Given the description of an element on the screen output the (x, y) to click on. 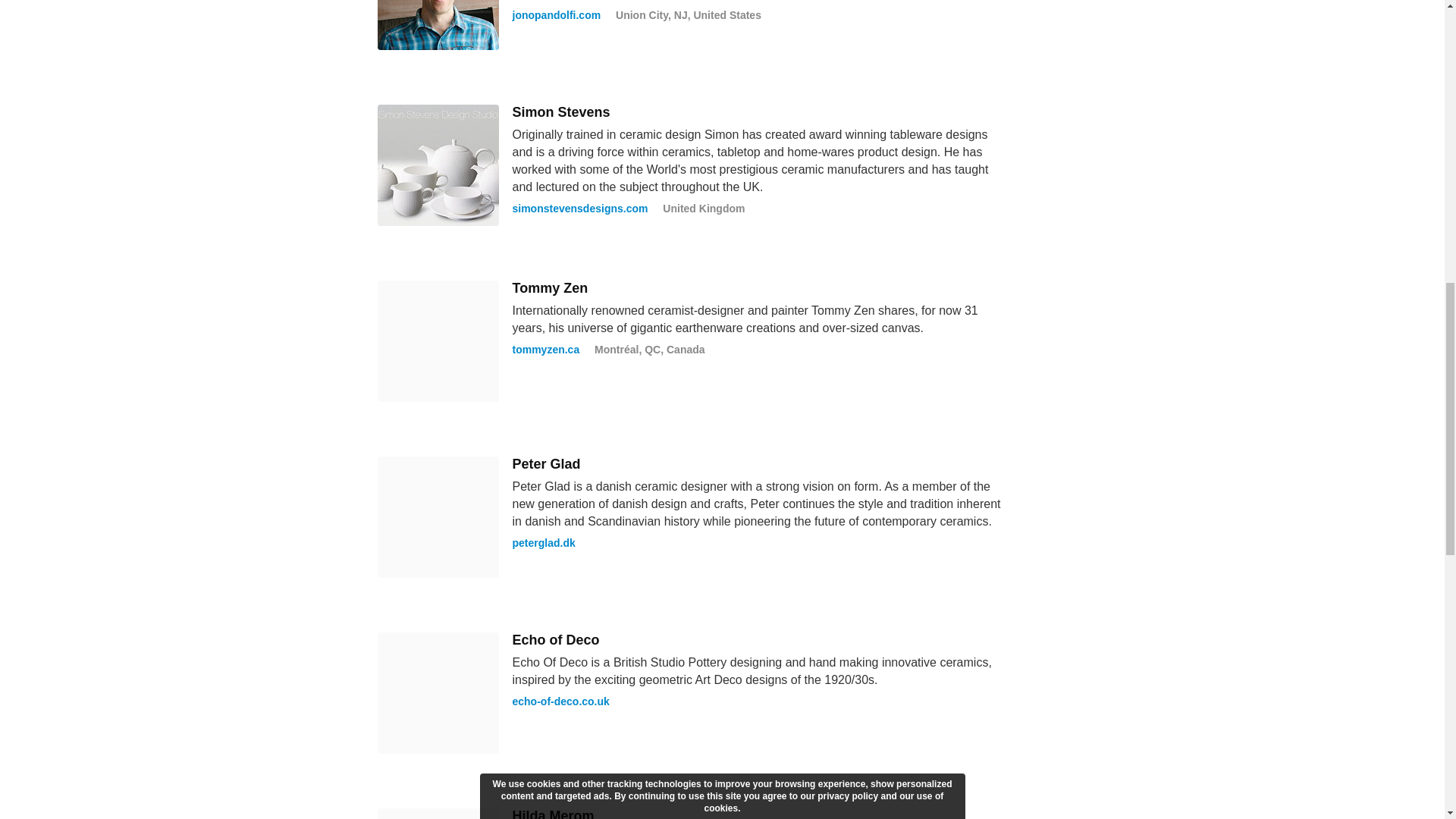
Peter Glad (546, 463)
Tommy Zen (550, 287)
Simon Stevens (561, 111)
peterglad.dk (543, 542)
Hilda Merom (553, 813)
simonstevensdesigns.com (579, 208)
tommyzen.ca (545, 349)
echo-of-deco.co.uk (561, 701)
Echo of Deco (555, 639)
jonopandolfi.com (556, 15)
